Given the description of an element on the screen output the (x, y) to click on. 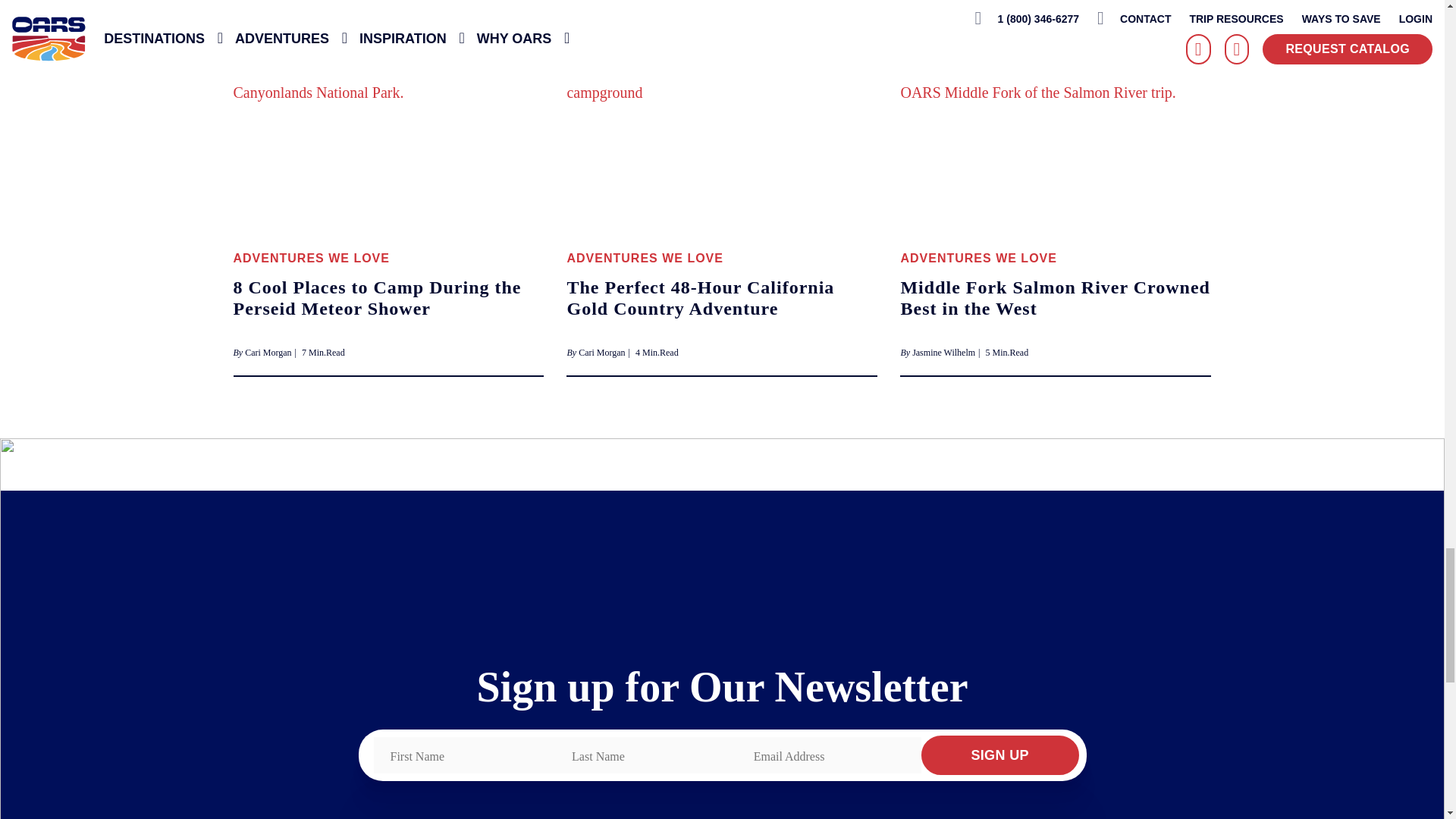
Sign Up (999, 754)
